Given the description of an element on the screen output the (x, y) to click on. 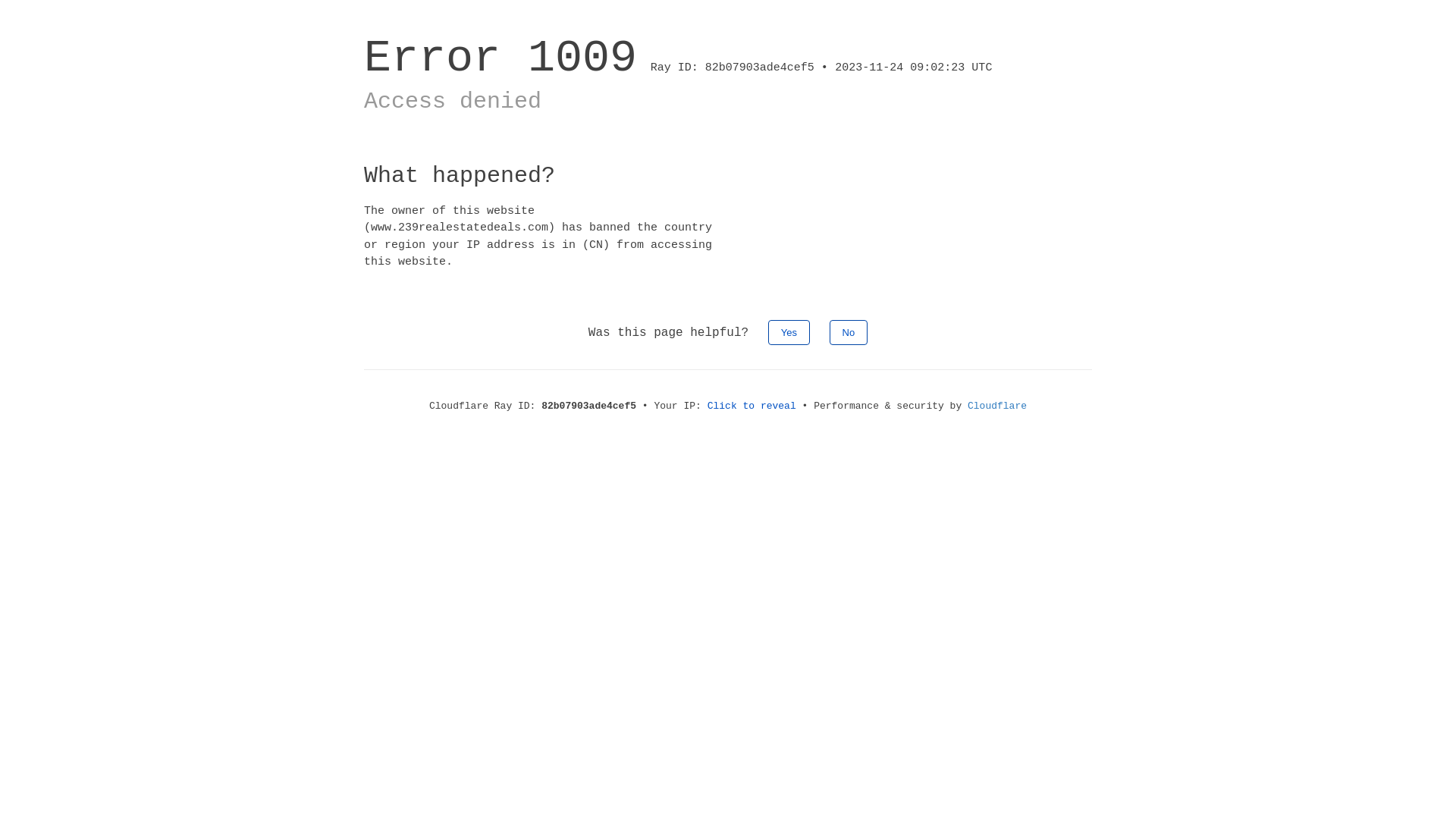
No Element type: text (848, 332)
Click to reveal Element type: text (751, 405)
Yes Element type: text (788, 332)
Cloudflare Element type: text (996, 405)
